Given the description of an element on the screen output the (x, y) to click on. 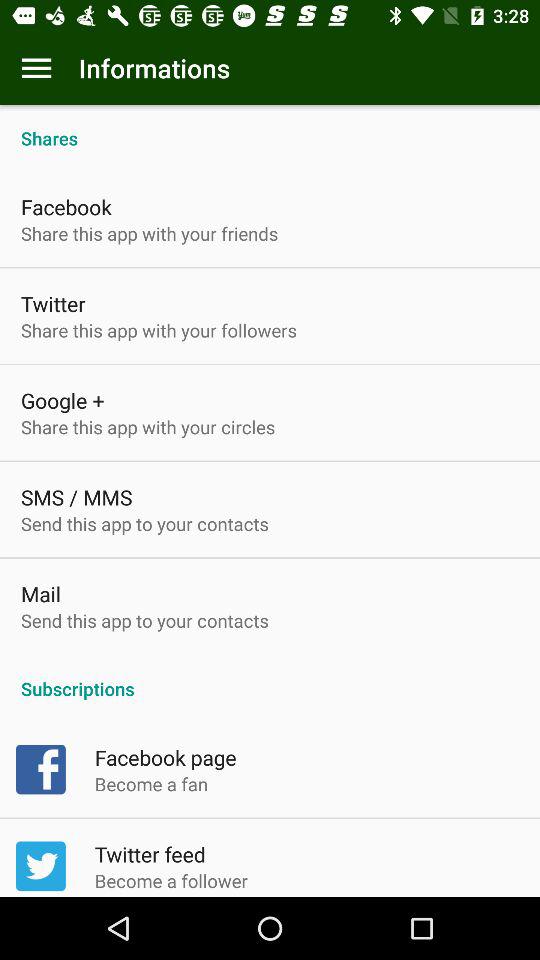
open item above the facebook item (270, 127)
